Given the description of an element on the screen output the (x, y) to click on. 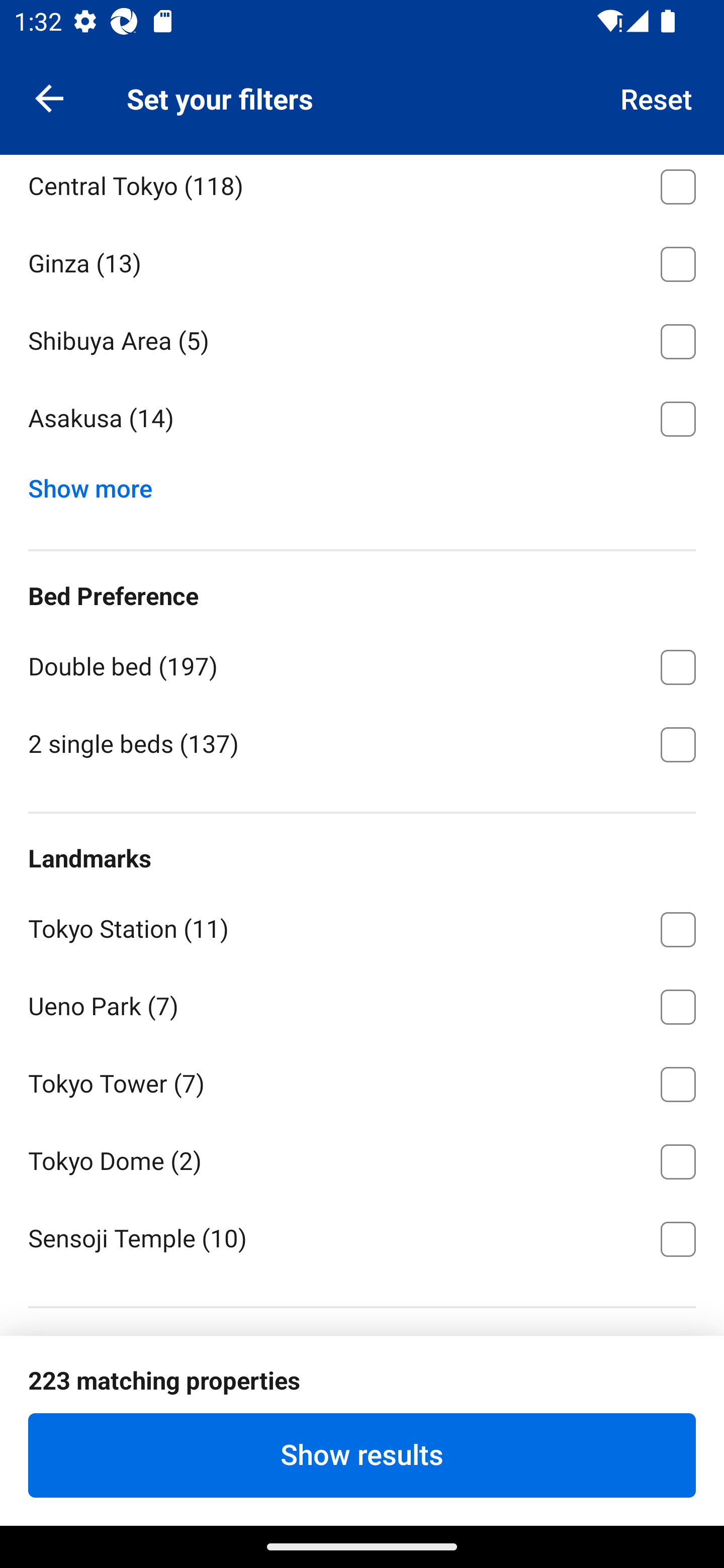
Navigate up (49, 97)
Reset (656, 97)
Shinjuku Area ⁦(23) (361, 105)
Central Tokyo ⁦(118) (361, 188)
Ginza ⁦(13) (361, 260)
Shibuya Area ⁦(5) (361, 337)
Asakusa ⁦(14) (361, 418)
Show more (97, 483)
Double bed ⁦(197) (361, 663)
2 single beds ⁦(137) (361, 743)
Tokyo Station ⁦(11) (361, 925)
Ueno Park ⁦(7) (361, 1003)
Tokyo Tower ⁦(7) (361, 1080)
Tokyo Dome ⁦(2) (361, 1157)
Sensoji Temple ⁦(10) (361, 1236)
Show results (361, 1454)
